Given the description of an element on the screen output the (x, y) to click on. 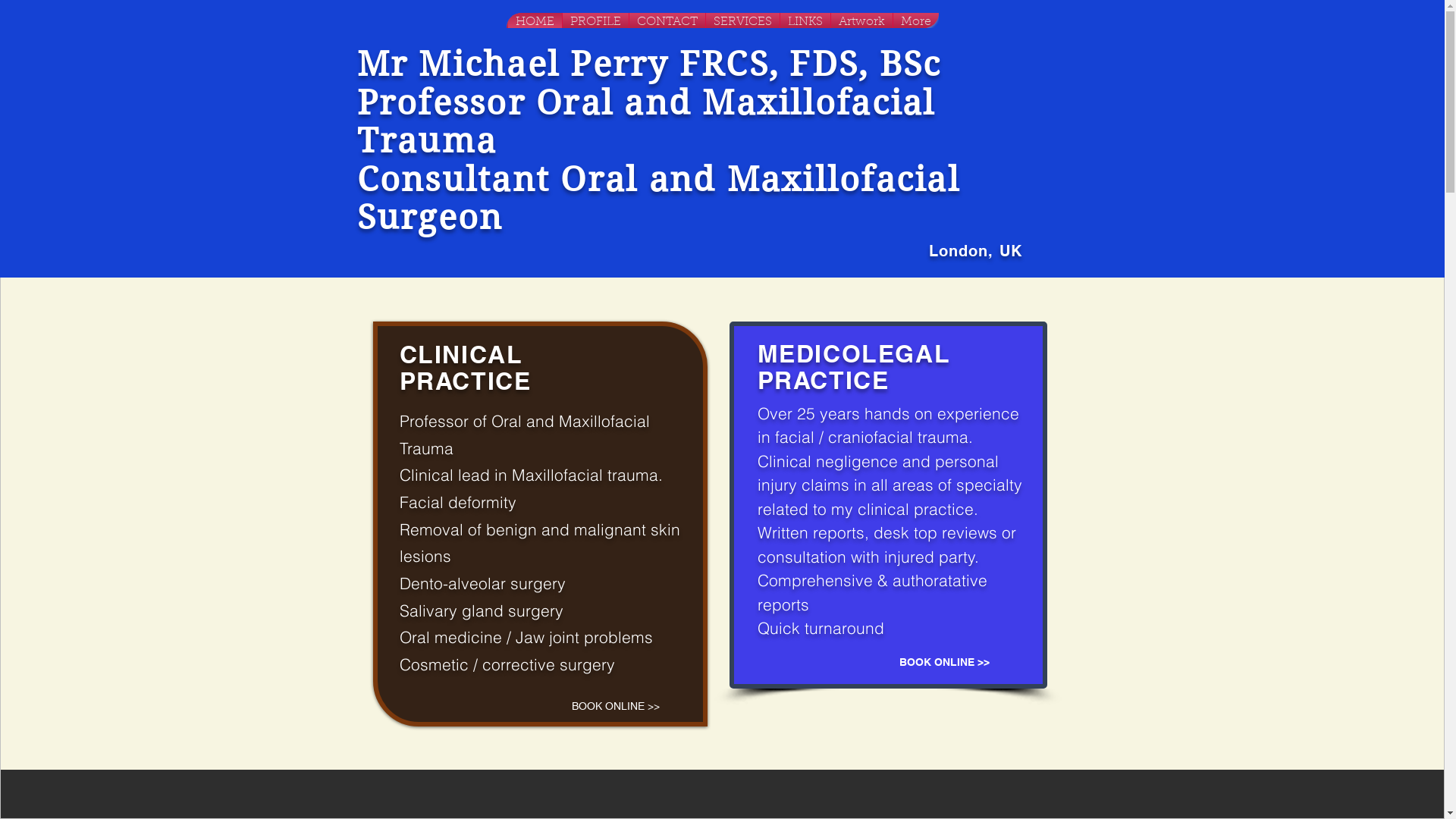
LINKS Element type: text (804, 20)
Artwork Element type: text (861, 20)
BOOK ONLINE >> Element type: text (614, 706)
SERVICES Element type: text (741, 20)
HOME Element type: text (534, 20)
PROFILE Element type: text (595, 20)
Mr Michael Perry Element type: text (517, 63)
BOOK ONLINE >> Element type: text (943, 662)
CONTACT Element type: text (667, 20)
